Given the description of an element on the screen output the (x, y) to click on. 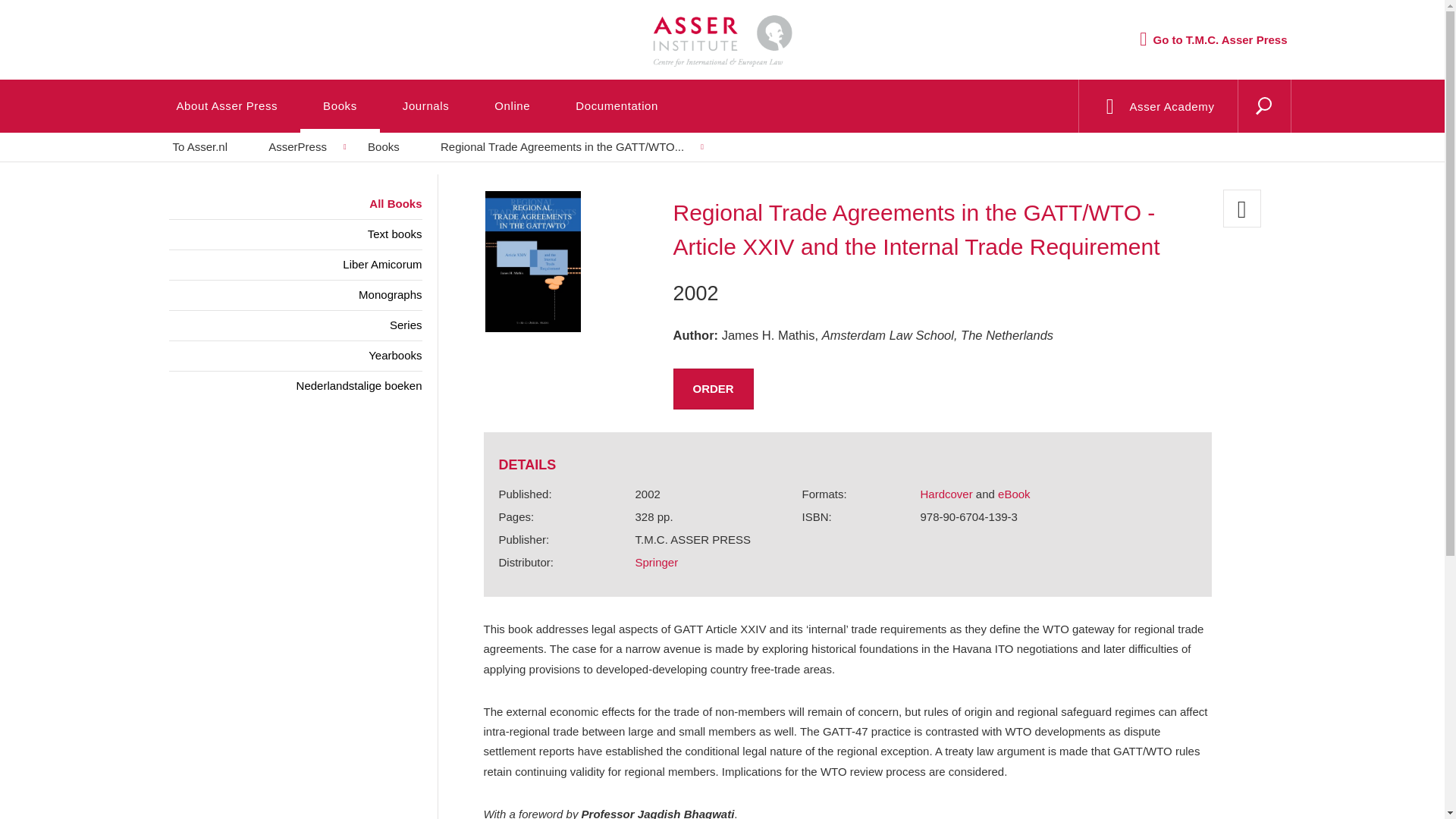
Journals (425, 105)
Go back to T.M.C. Asser Instituut Homepage (721, 27)
Go to T.M.C. Asser Press (1213, 38)
Search (1227, 125)
About Asser Press (225, 105)
Books (339, 105)
Search (1227, 125)
